Given the description of an element on the screen output the (x, y) to click on. 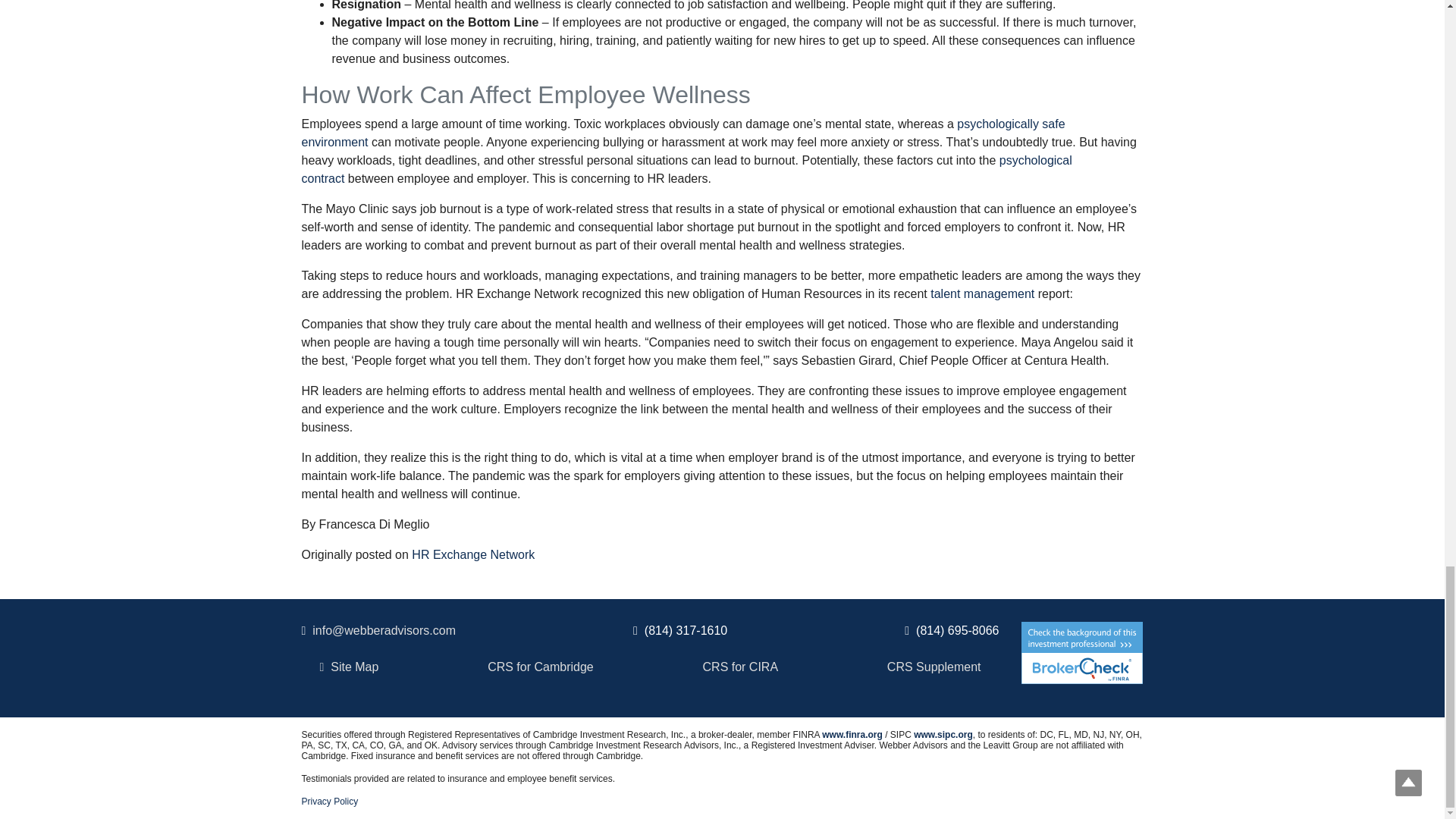
talent management (981, 293)
psychologically safe environment (683, 132)
psychological contract (686, 169)
